Given the description of an element on the screen output the (x, y) to click on. 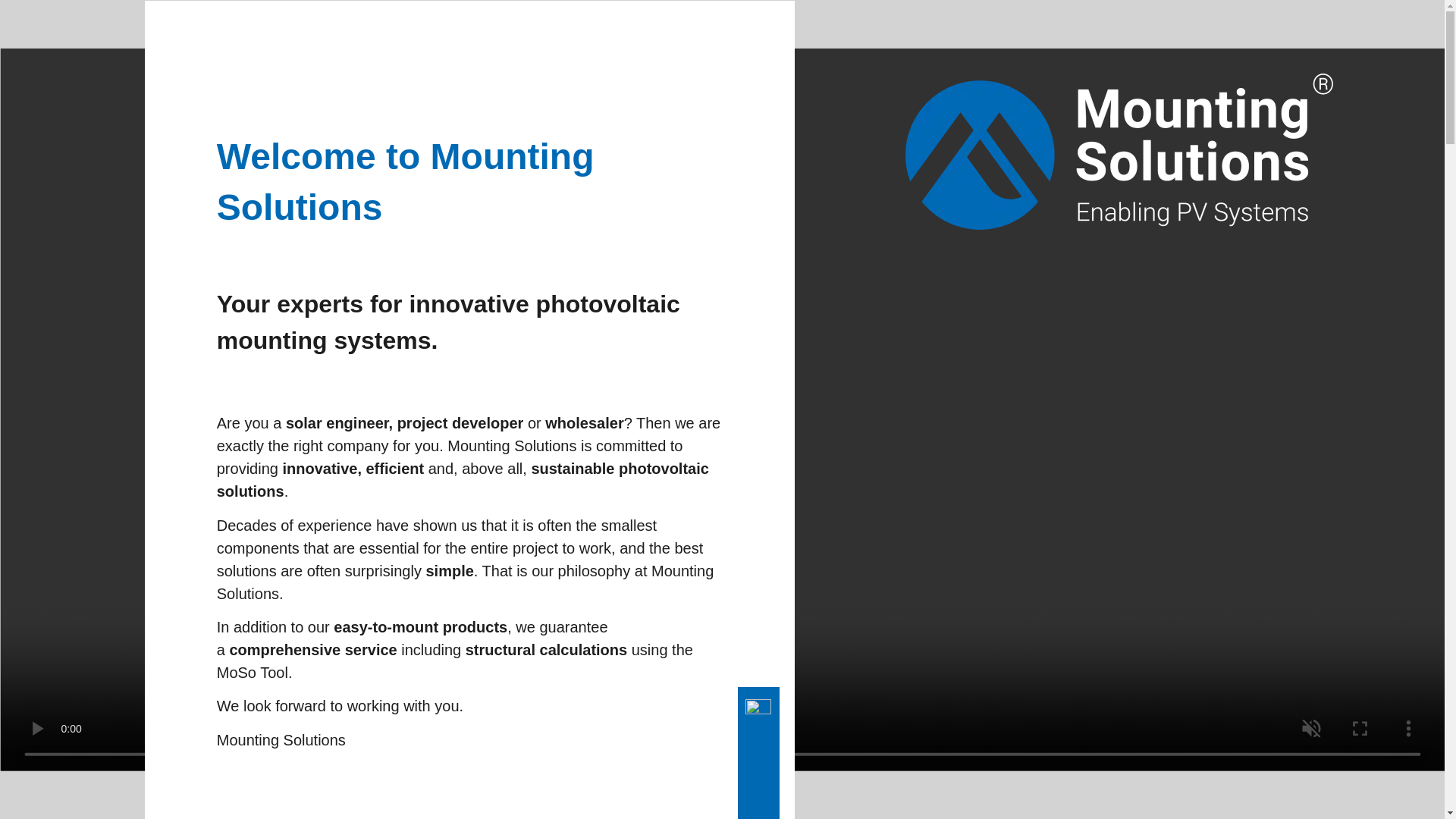
Open Cookie Preferences (32, 799)
